Given the description of an element on the screen output the (x, y) to click on. 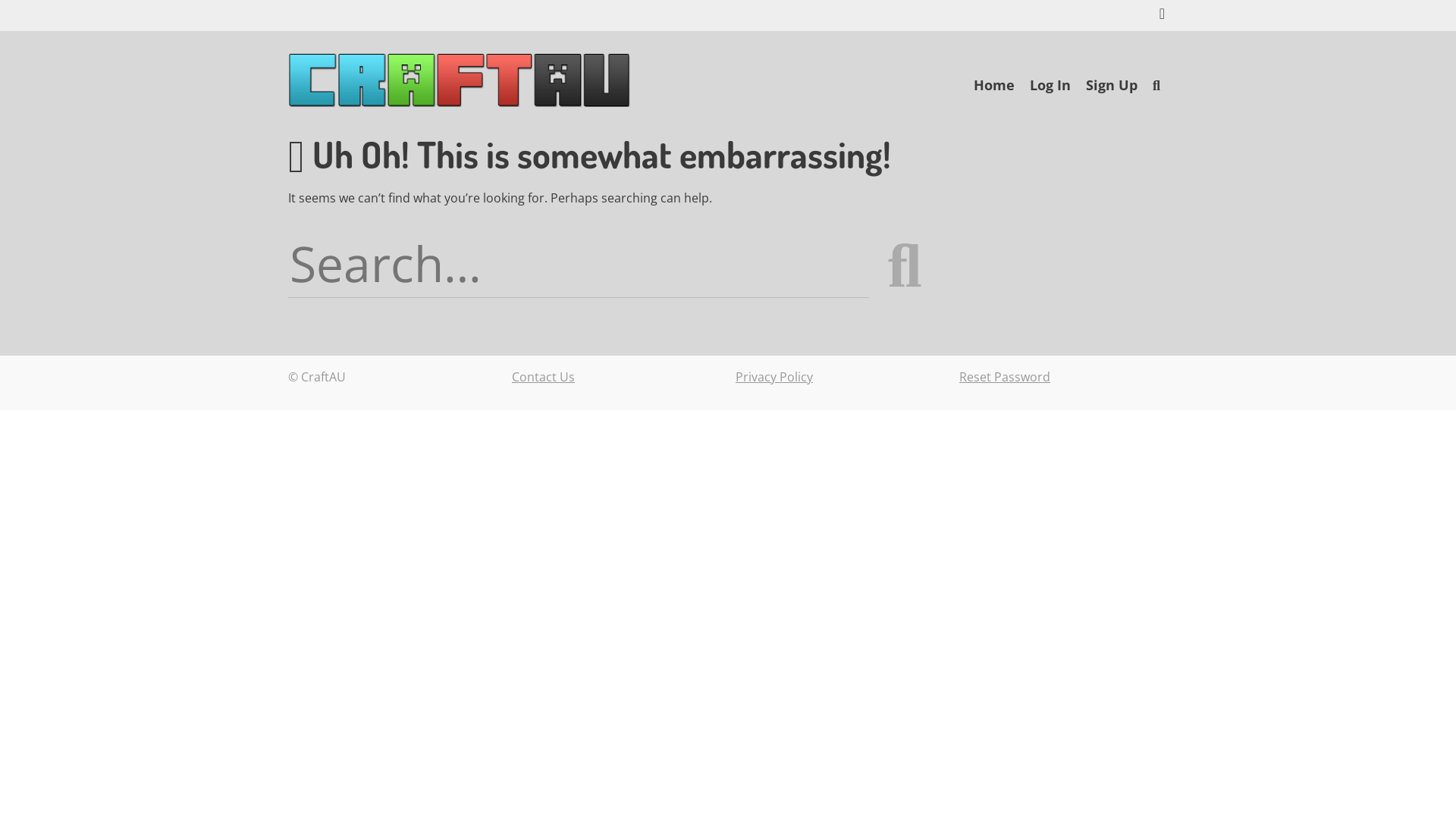
Sign Up Element type: text (1111, 85)
Log In Element type: text (1050, 85)
Reset Password Element type: text (1004, 376)
Home Element type: text (994, 85)
Privacy Policy Element type: text (773, 376)
Join me on Discord Element type: text (1161, 15)
Contact Us Element type: text (542, 376)
Skip to content Element type: text (966, 94)
